Given the description of an element on the screen output the (x, y) to click on. 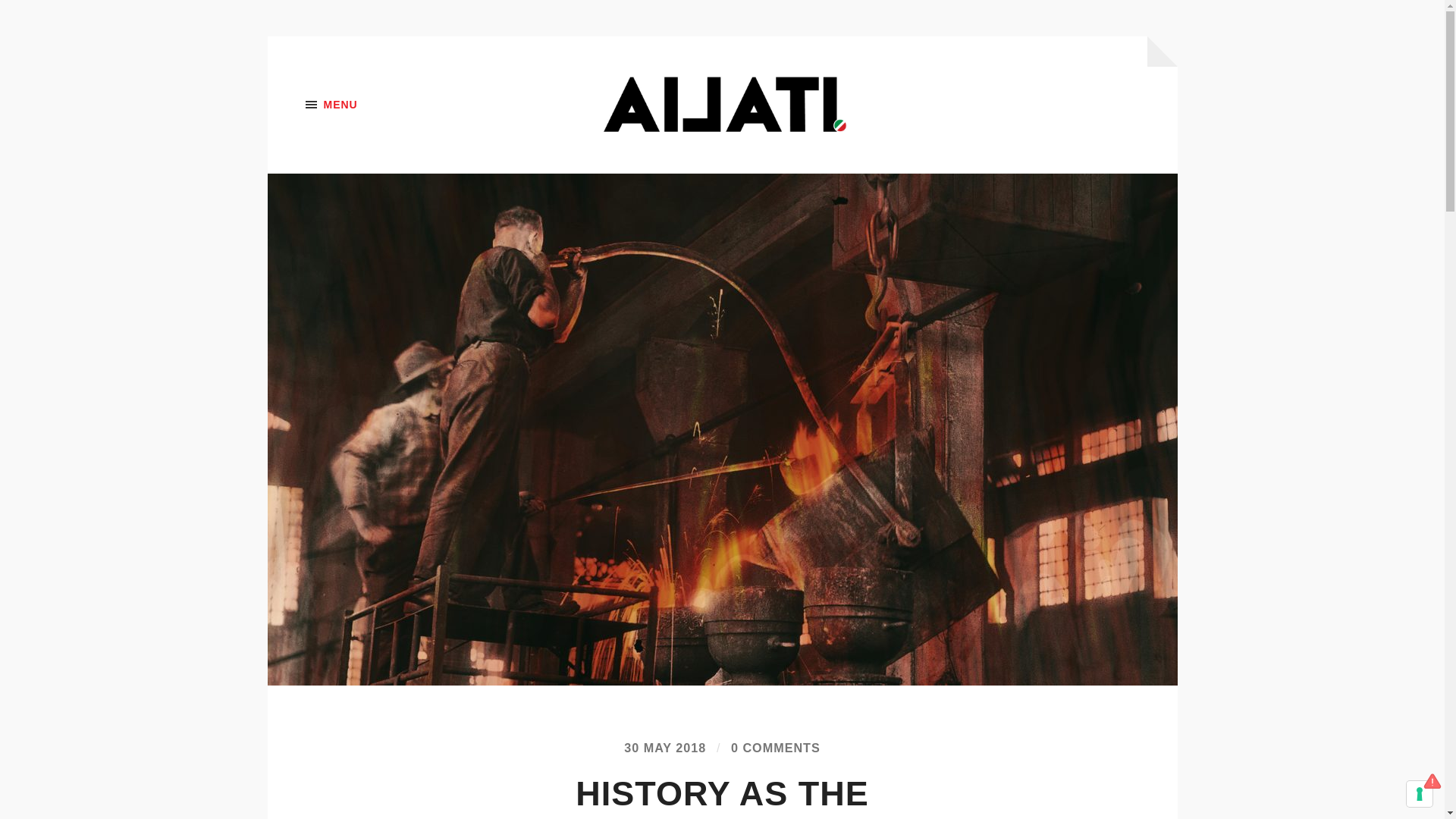
MENU (380, 104)
Ai-Lati (723, 104)
0 COMMENTS (775, 747)
30 MAY 2018 (665, 747)
